Given the description of an element on the screen output the (x, y) to click on. 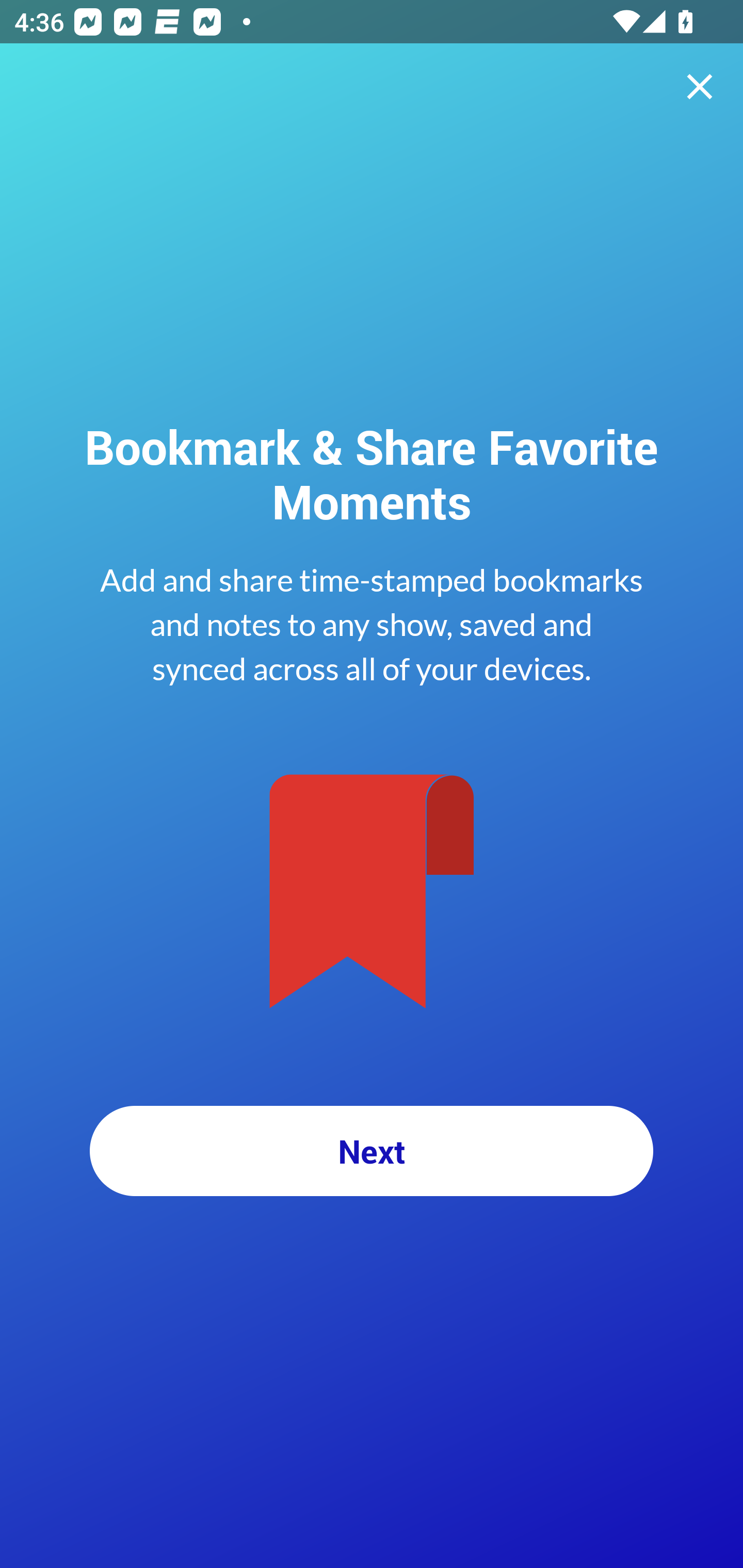
Close dialog (699, 86)
Next (371, 1150)
